Given the description of an element on the screen output the (x, y) to click on. 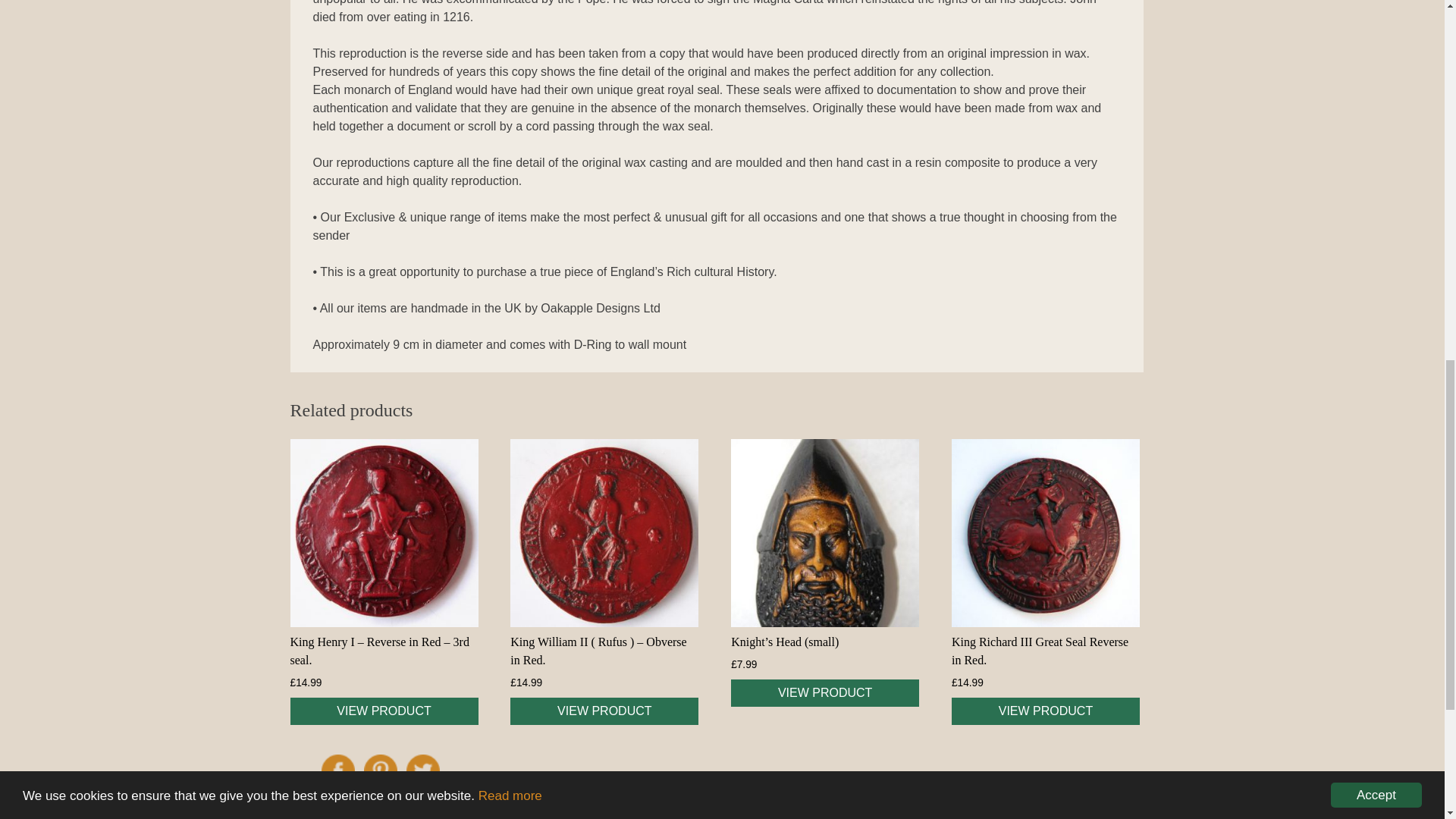
VIEW PRODUCT (383, 710)
facebook (338, 771)
twitter (422, 771)
VIEW PRODUCT (824, 692)
pinterest (380, 771)
Read more (510, 40)
Accept (1376, 53)
VIEW PRODUCT (604, 710)
